Given the description of an element on the screen output the (x, y) to click on. 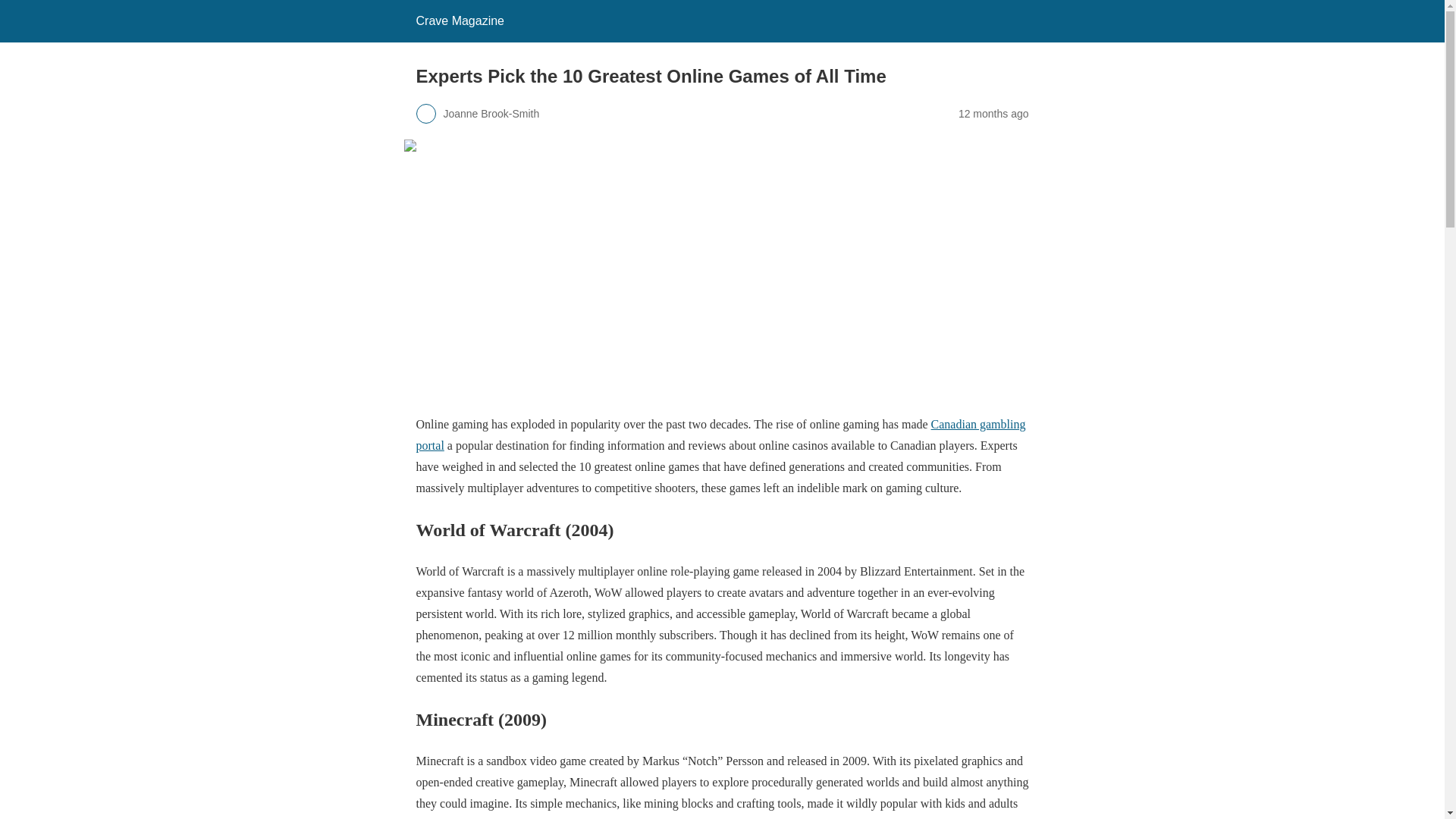
Canadian gambling portal (719, 434)
Crave Magazine (458, 20)
